Given the description of an element on the screen output the (x, y) to click on. 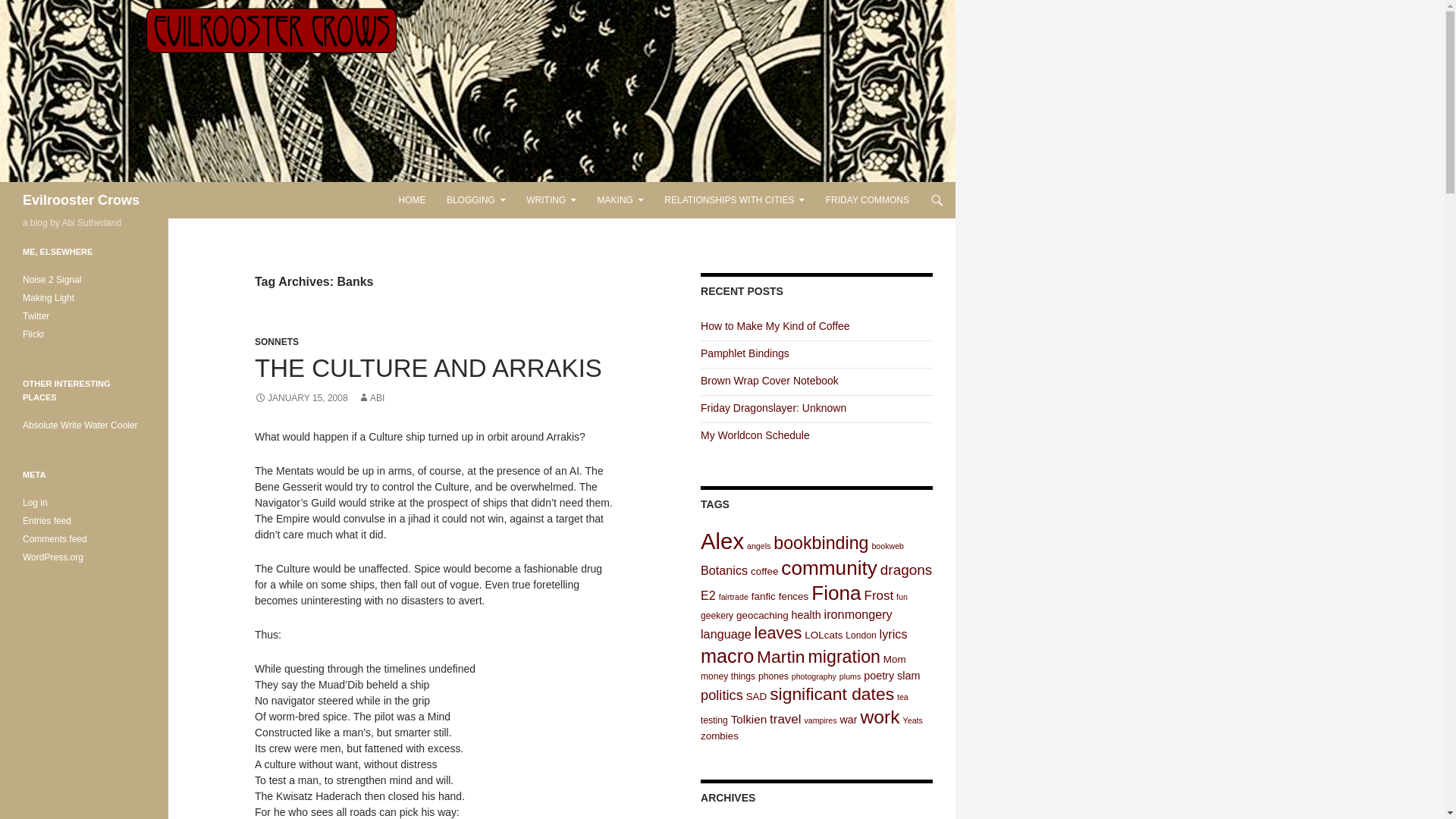
BLOGGING (476, 199)
Friday Dragonslayer: Unknown (772, 408)
Brown Wrap Cover Notebook (769, 380)
How to Make My Kind of Coffee (775, 326)
WRITING (550, 199)
Evilrooster Crows (81, 199)
My Worldcon Schedule (754, 435)
THE CULTURE AND ARRAKIS (428, 367)
ABI (371, 398)
SONNETS (276, 341)
Alex (722, 540)
FRIDAY COMMONS (867, 199)
RELATIONSHIPS WITH CITIES (734, 199)
